Given the description of an element on the screen output the (x, y) to click on. 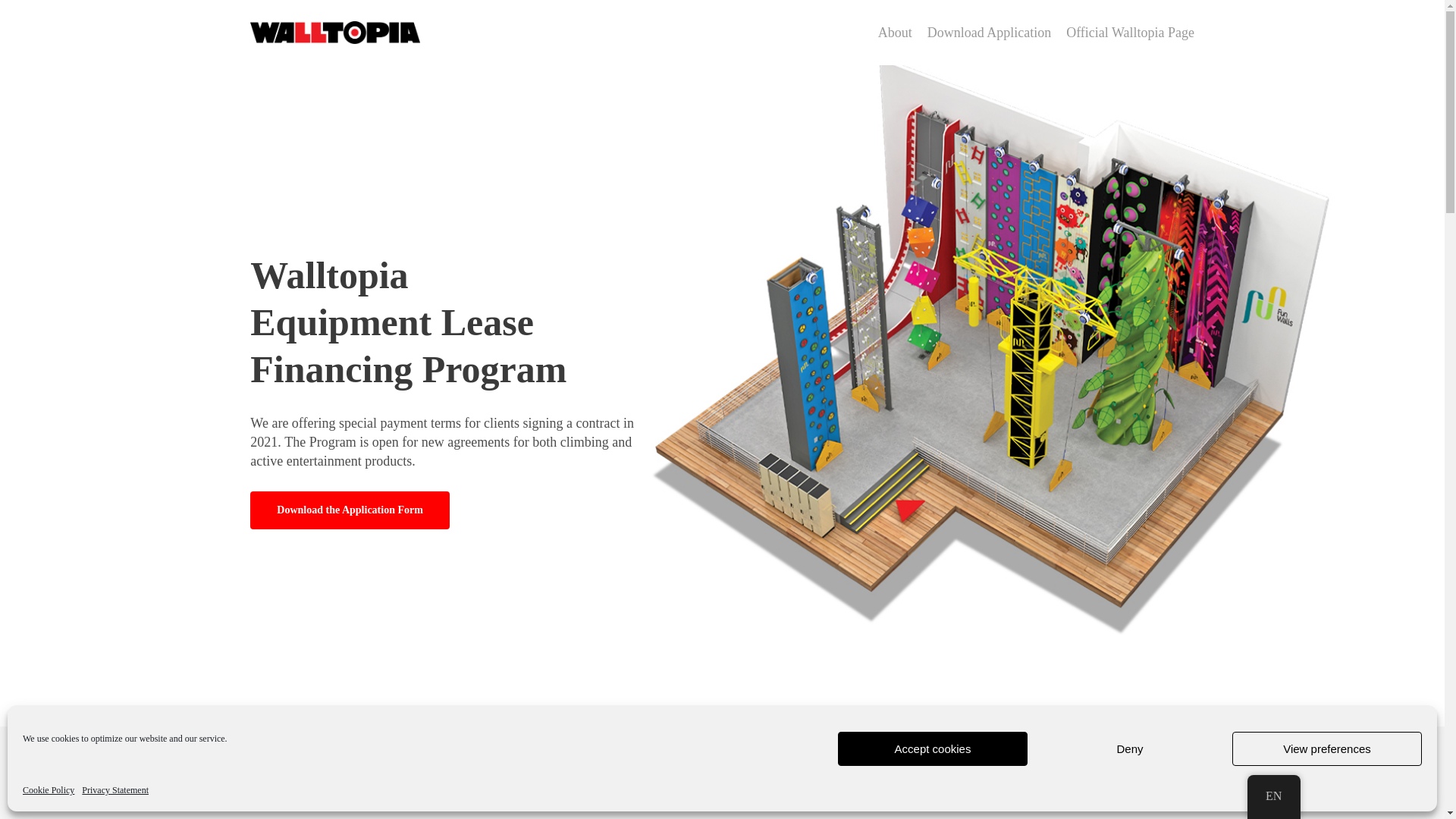
Deny (1129, 748)
Download Application (989, 32)
Download the Application Form (349, 510)
Cookie Policy (48, 790)
Privacy Statement (114, 790)
About (894, 32)
Official Walltopia Page (1129, 32)
Accept cookies (932, 748)
EN (1273, 796)
View preferences (1326, 748)
